Given the description of an element on the screen output the (x, y) to click on. 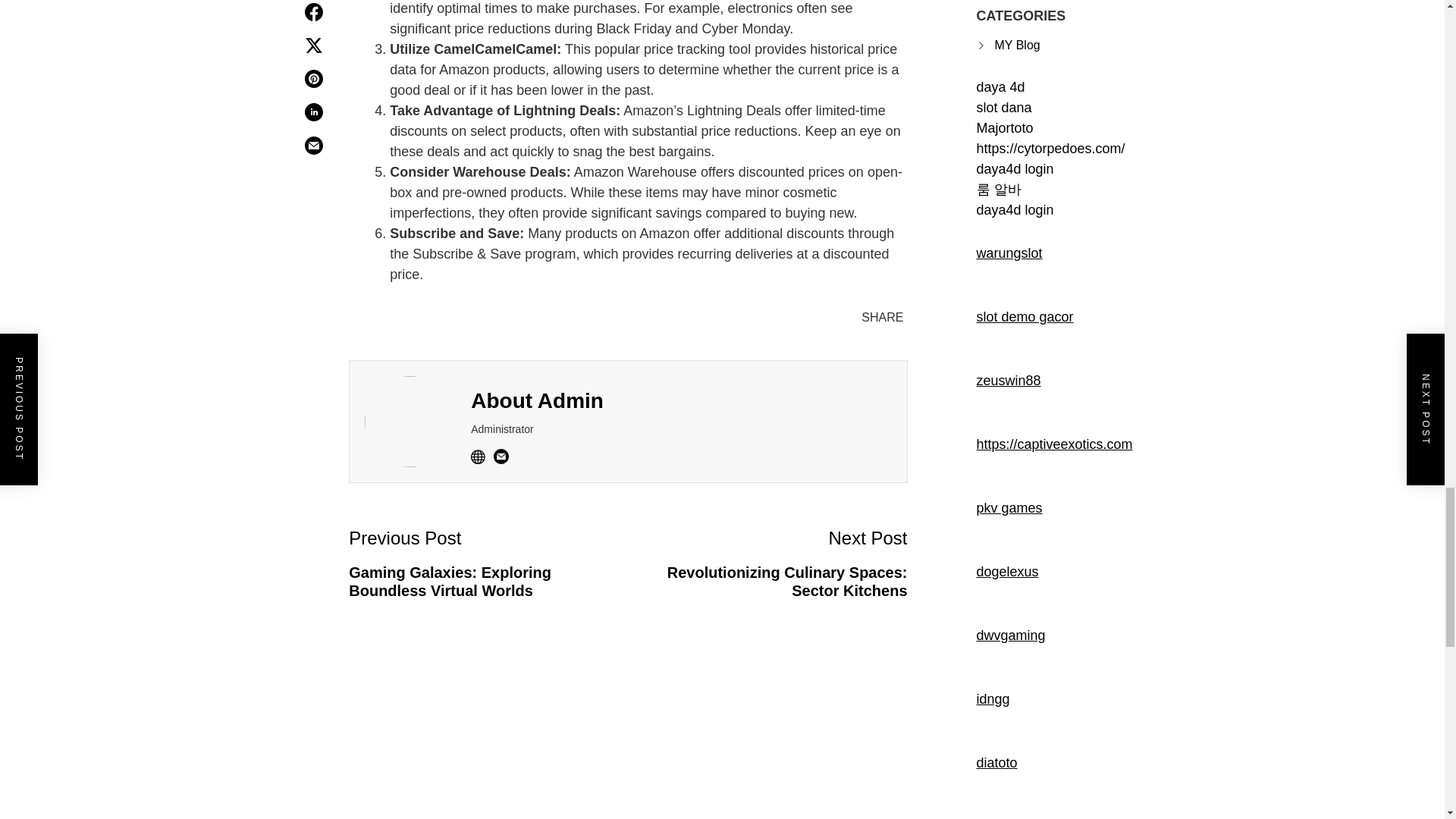
About Admin (767, 561)
